Given the description of an element on the screen output the (x, y) to click on. 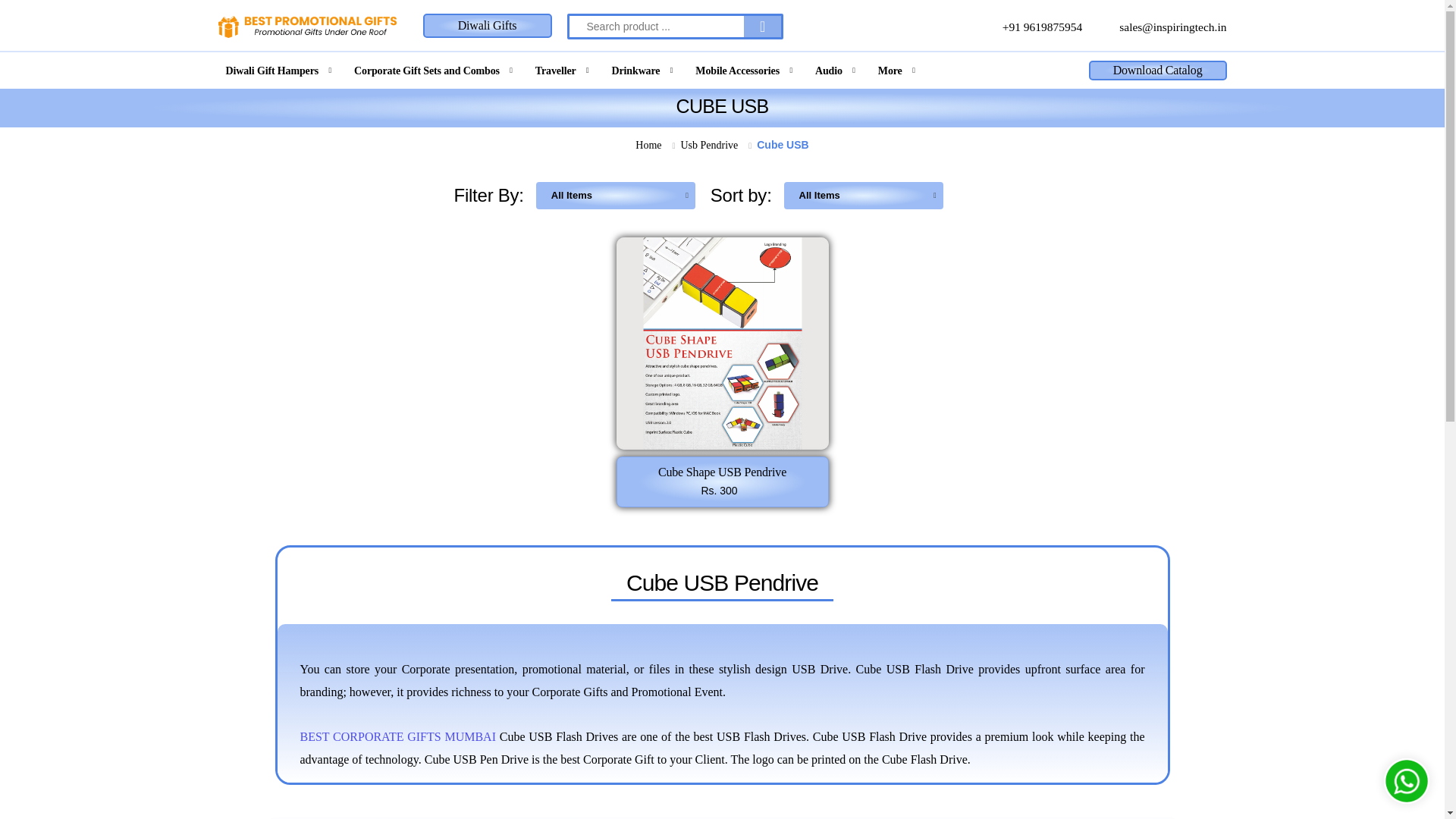
Cube Shape USB Pendrive (721, 343)
Diwali Gift Hampers (280, 70)
Drinkware (643, 70)
Corporate Gift Sets and Combos (434, 70)
Traveller (562, 70)
Mobile Accessories (744, 70)
Diwali Gifts (487, 25)
